Given the description of an element on the screen output the (x, y) to click on. 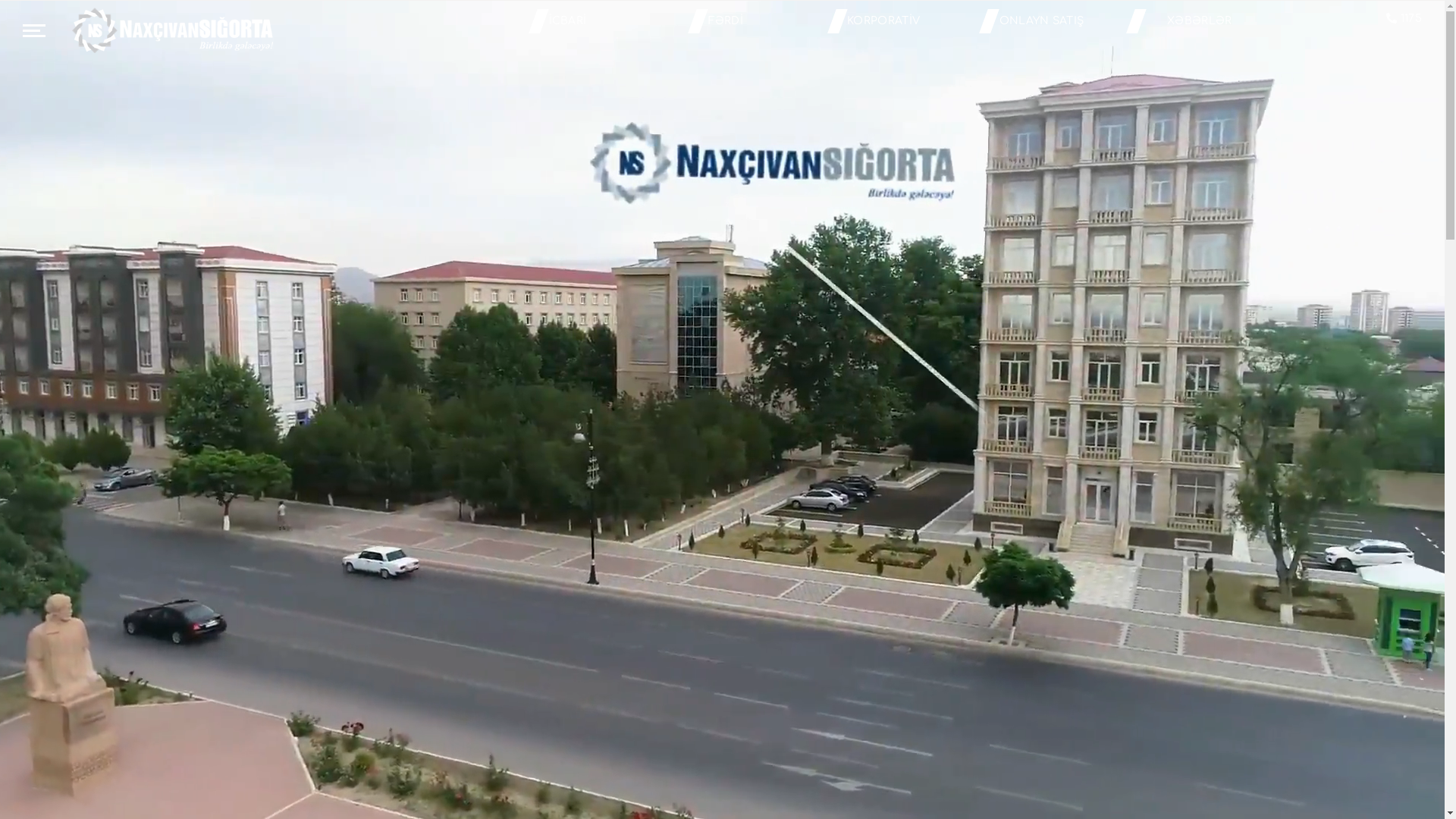
1175 Element type: text (1403, 18)
